Given the description of an element on the screen output the (x, y) to click on. 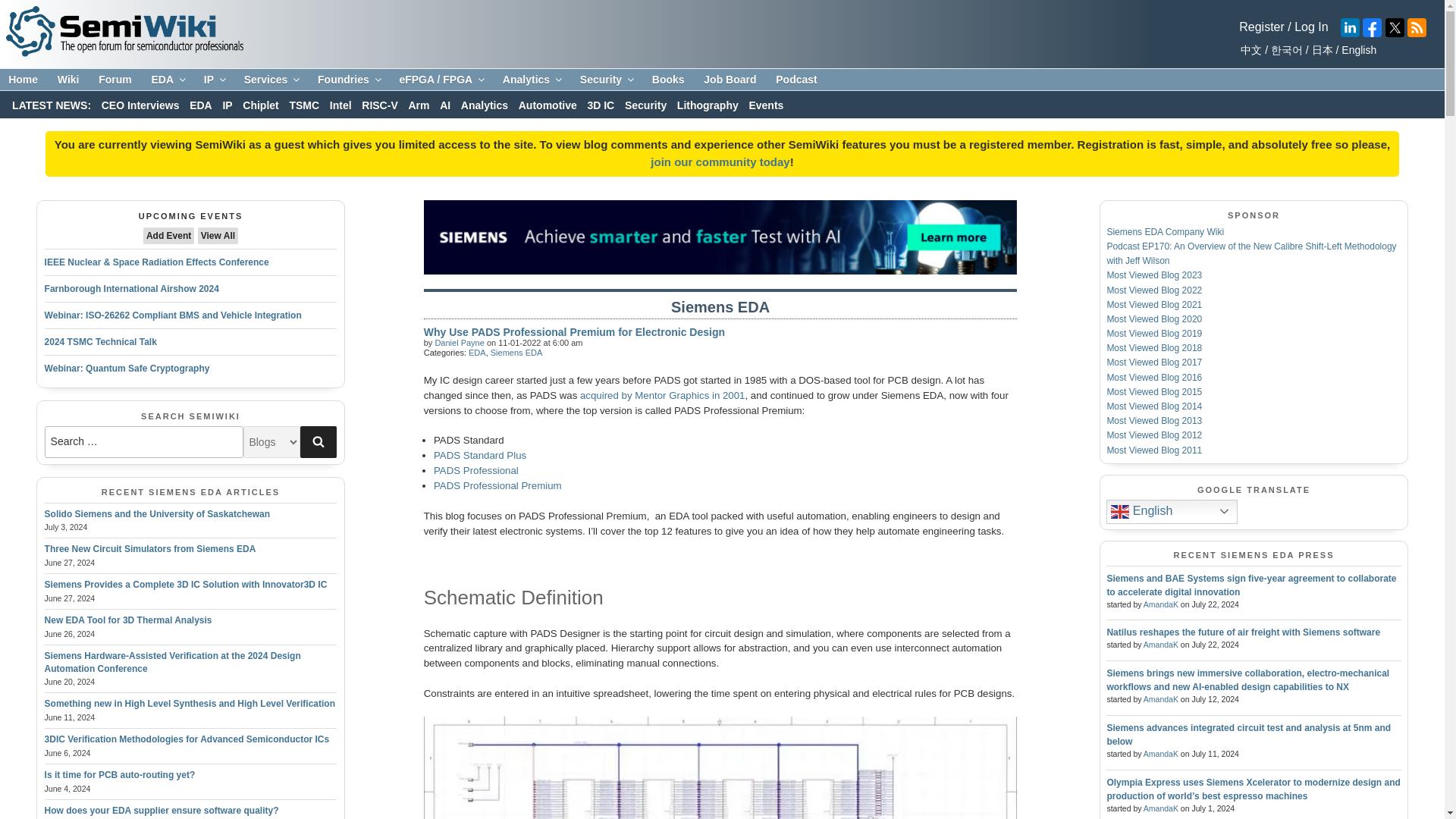
EDA (167, 79)
Korean (1284, 50)
Wiki (68, 79)
Login (1261, 26)
Webinar: ISO-26262 Compliant BMS and Vehicle Integration (173, 315)
IP (213, 79)
English (1356, 50)
Log In (1310, 26)
Home (23, 79)
Login (719, 161)
Japanese (1319, 50)
Login (1310, 26)
Register (1261, 26)
Forum (114, 79)
Farnborough International Airshow 2024 (132, 288)
